Given the description of an element on the screen output the (x, y) to click on. 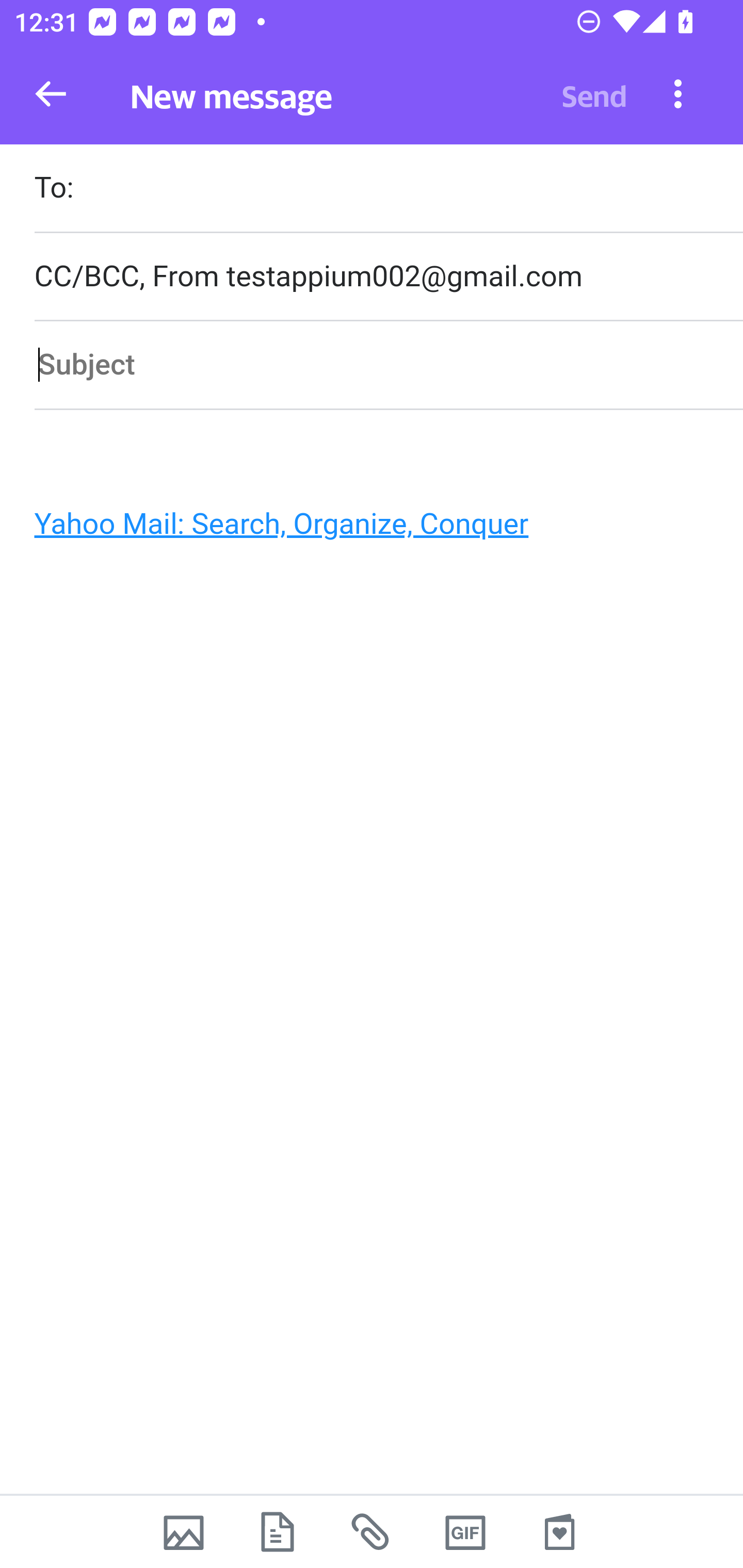
Back (50, 93)
Send (594, 93)
More options (677, 93)
To: (387, 189)
CC/BCC, From testappium002@gmail.com (387, 276)


Yahoo Mail: Search, Organize, Conquer (363, 528)
Camera photos (183, 1531)
Device files (277, 1531)
Recent attachments from mail (371, 1531)
GIFs (465, 1531)
Stationery (559, 1531)
